Given the description of an element on the screen output the (x, y) to click on. 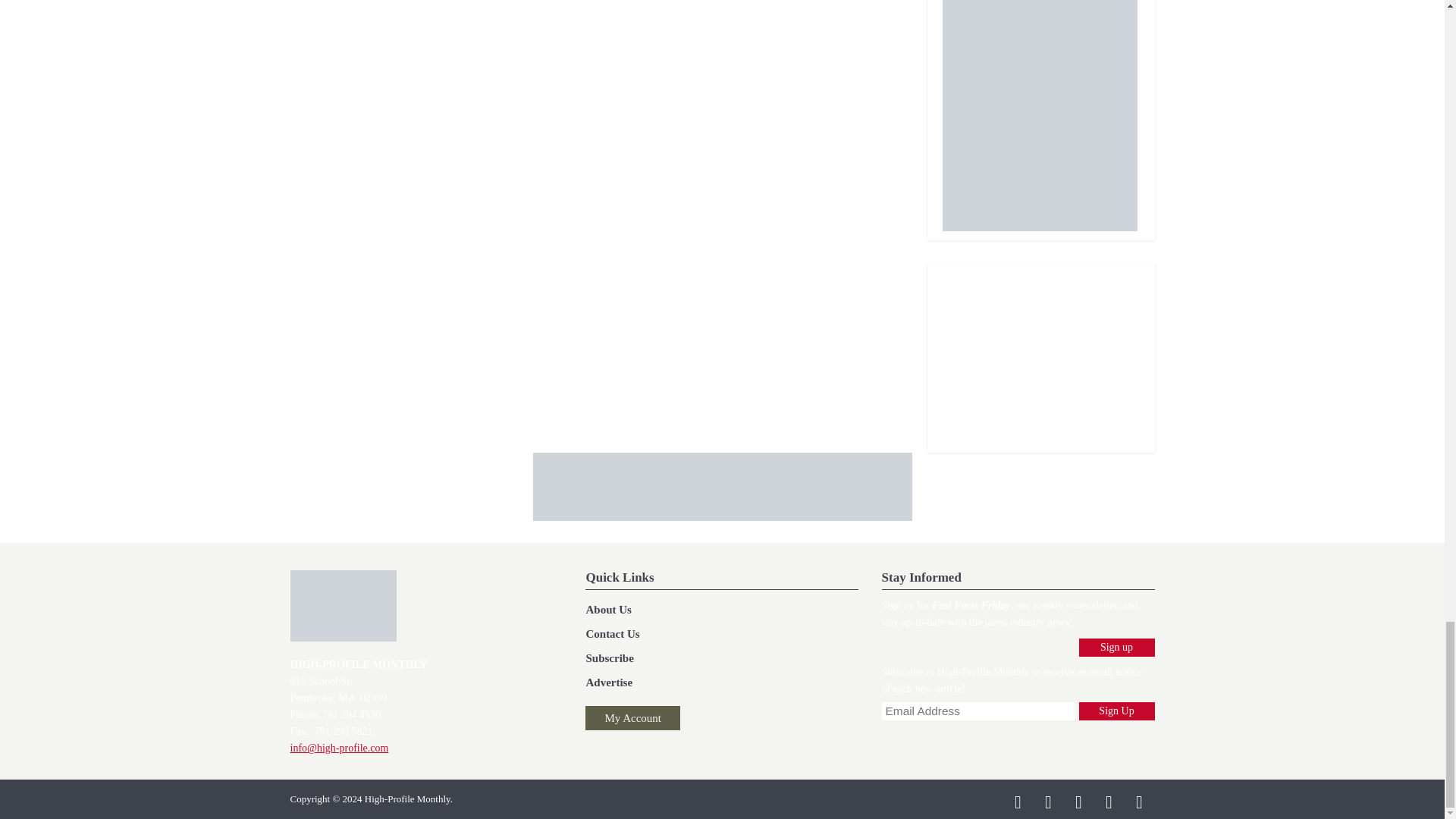
Sign Up (1116, 710)
